Given the description of an element on the screen output the (x, y) to click on. 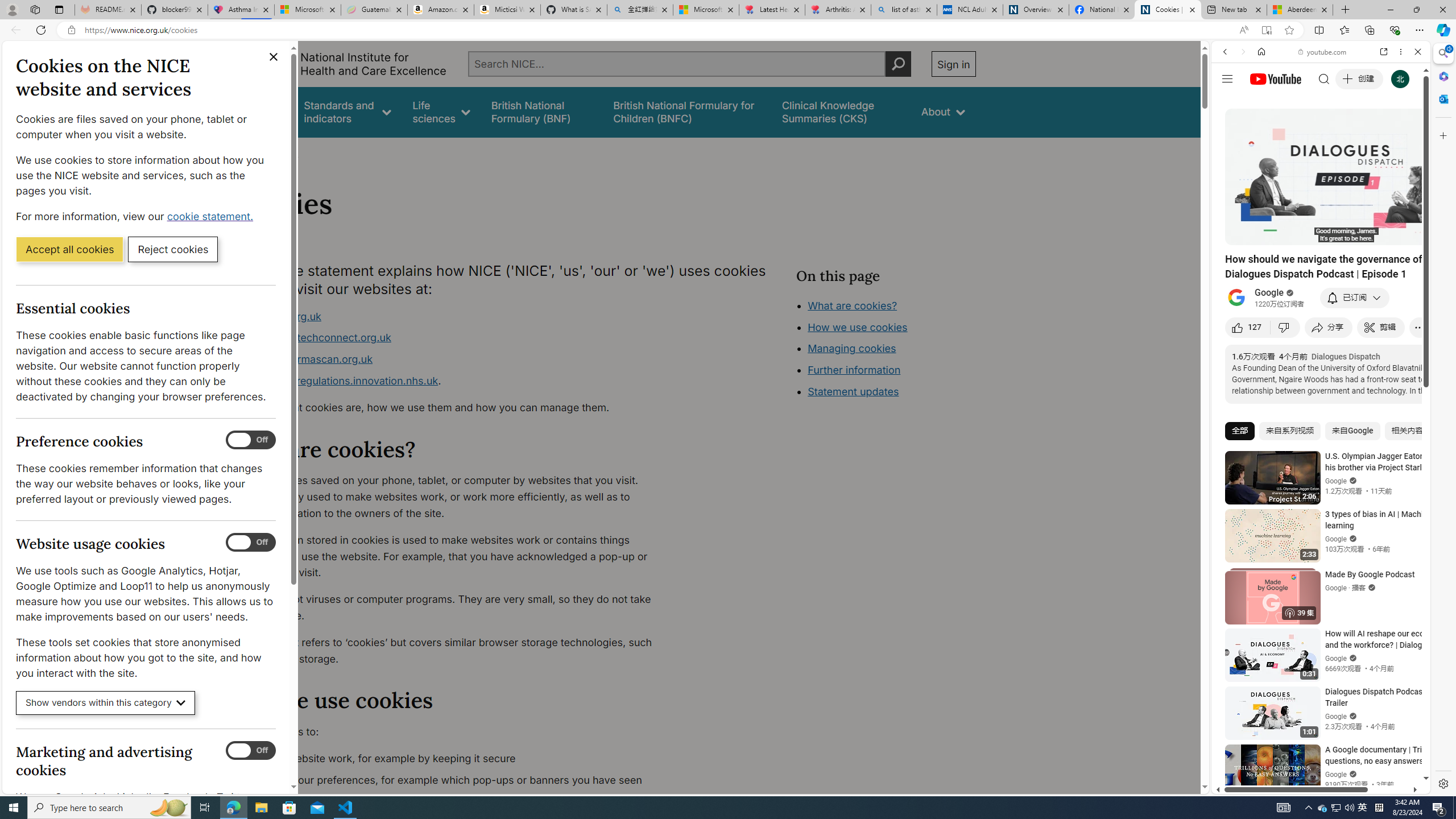
Open link in new tab (1383, 51)
US[ju] (1249, 785)
How we use cookies (896, 389)
Class: ytp-subtitles-button-icon (1368, 234)
Click to scroll right (1407, 456)
